Given the description of an element on the screen output the (x, y) to click on. 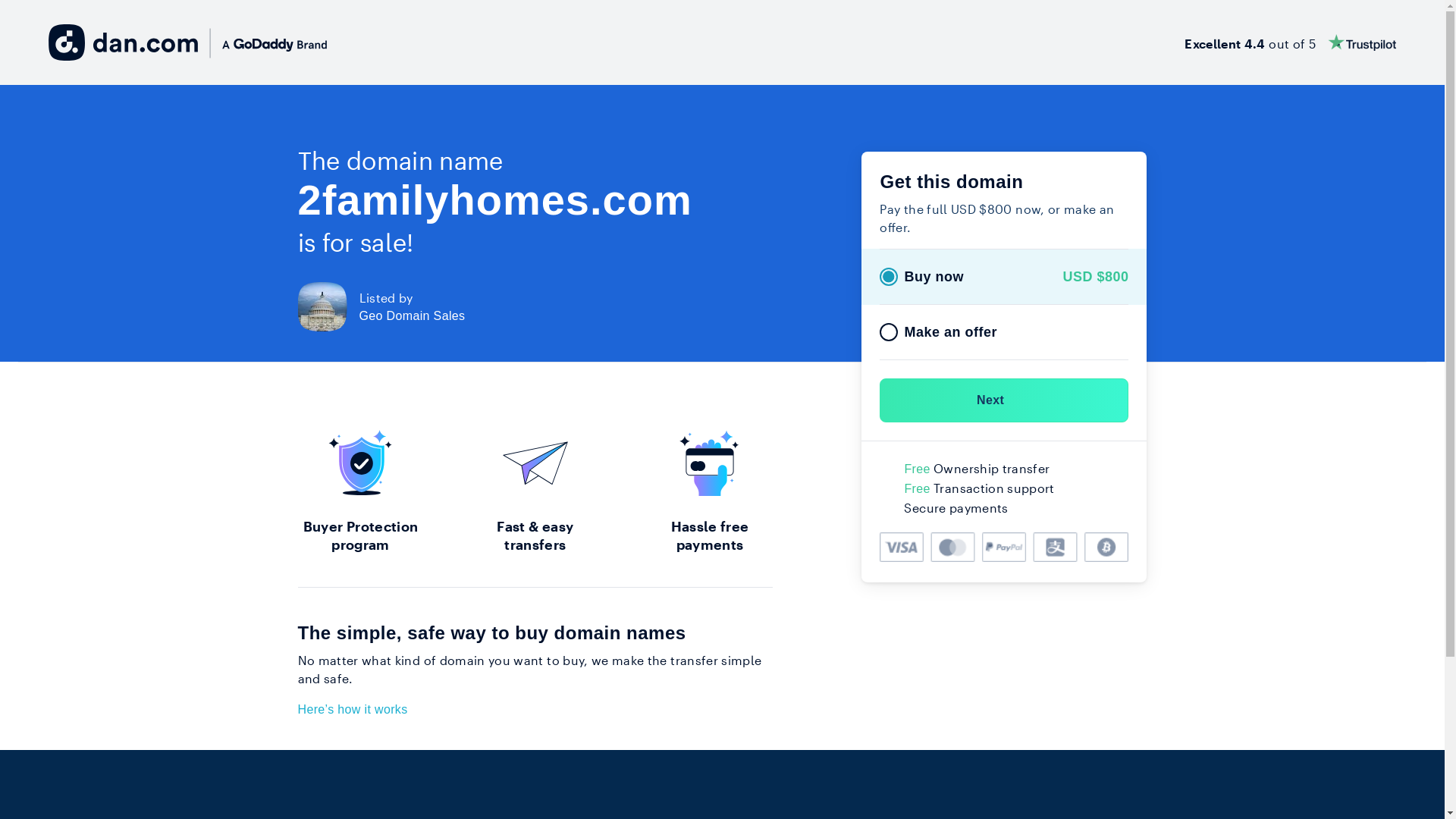
Next
) Element type: text (1003, 400)
Excellent 4.4 out of 5 Element type: text (1290, 42)
